Given the description of an element on the screen output the (x, y) to click on. 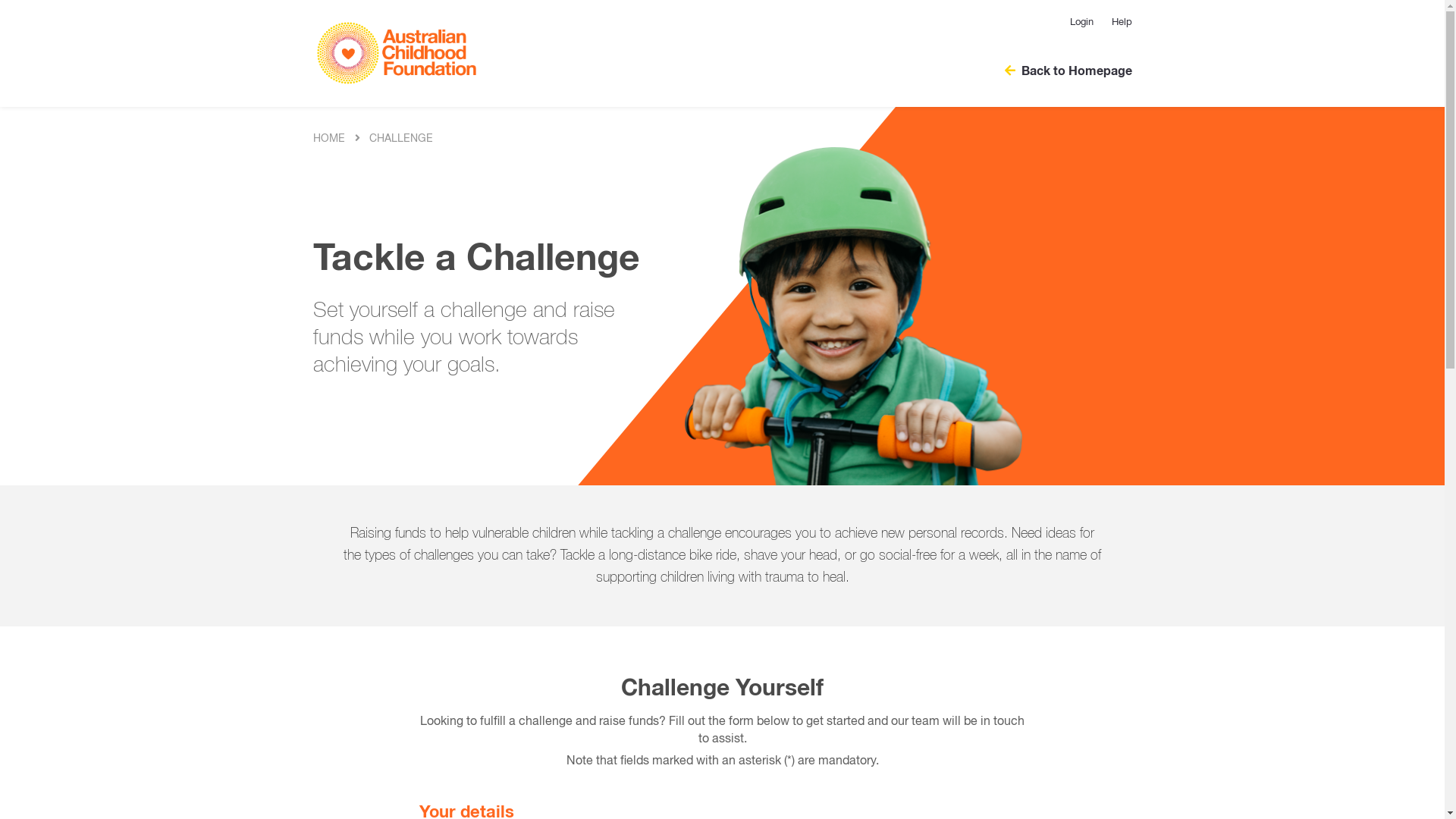
 Back to Homepage Element type: text (1059, 71)
Login Element type: text (1080, 22)
CHALLENGE Element type: text (401, 138)
Help Element type: text (1117, 22)
HOME Element type: text (328, 138)
